Given the description of an element on the screen output the (x, y) to click on. 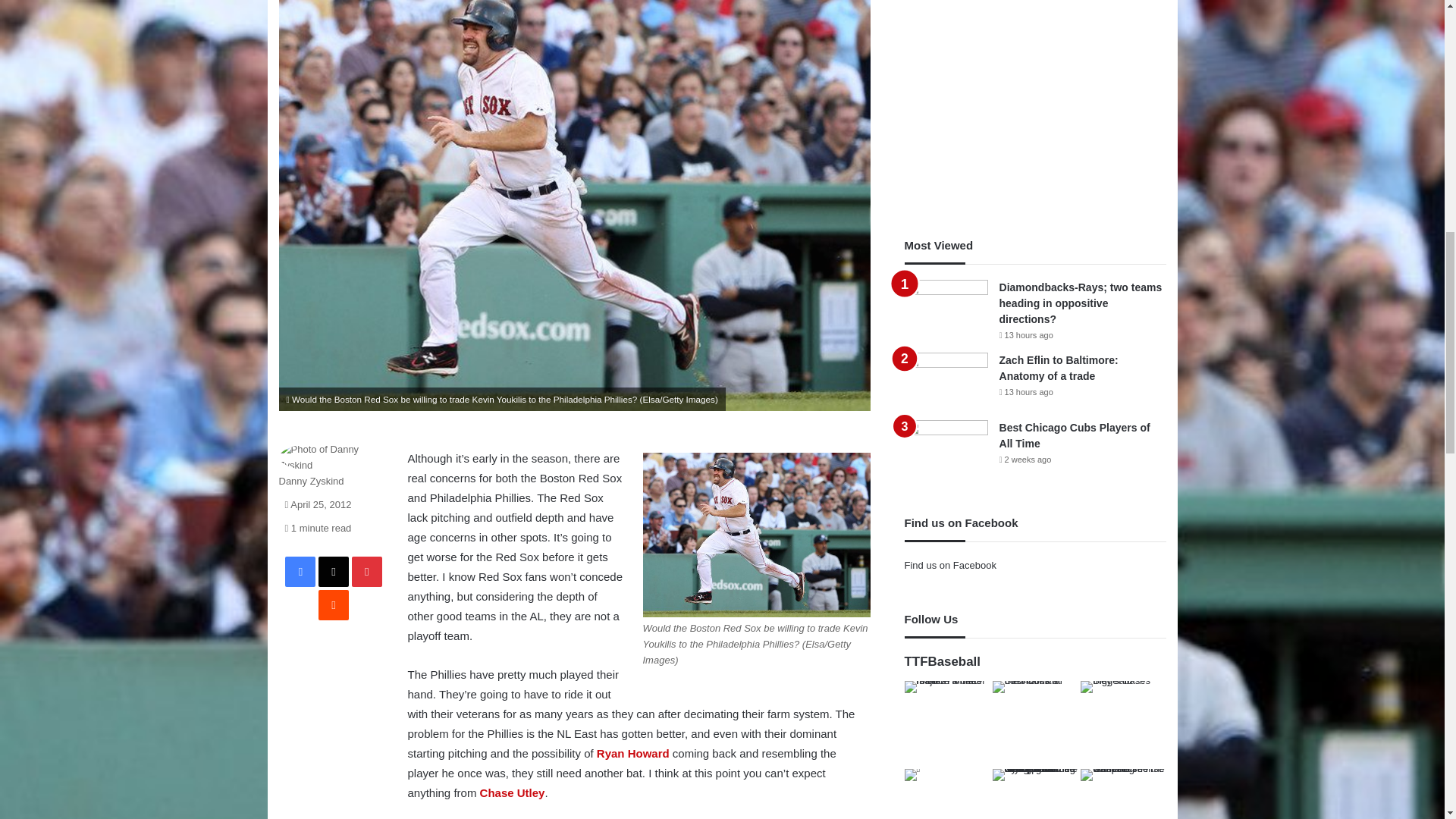
Pinterest (366, 571)
X (333, 571)
Danny Zyskind (311, 480)
Kevin Youkilis (756, 534)
Facebook (300, 571)
Reddit (333, 604)
